Given the description of an element on the screen output the (x, y) to click on. 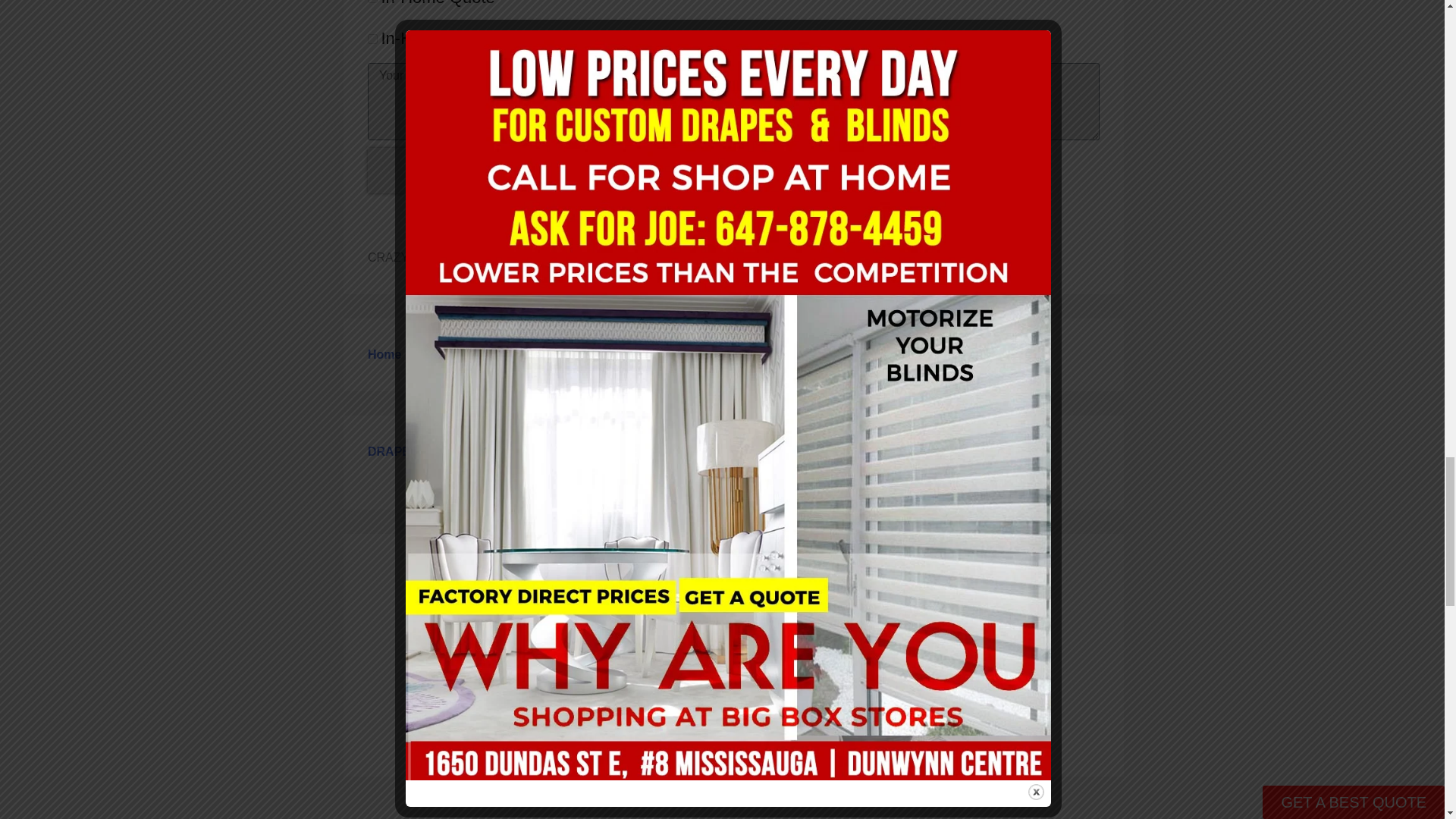
SEND (732, 222)
In-Home Quote Over Video (372, 39)
reCAPTCHA (465, 170)
DRAPERY SPECIALS (429, 451)
Custom Drapery Toronto (485, 354)
Home (384, 354)
